Given the description of an element on the screen output the (x, y) to click on. 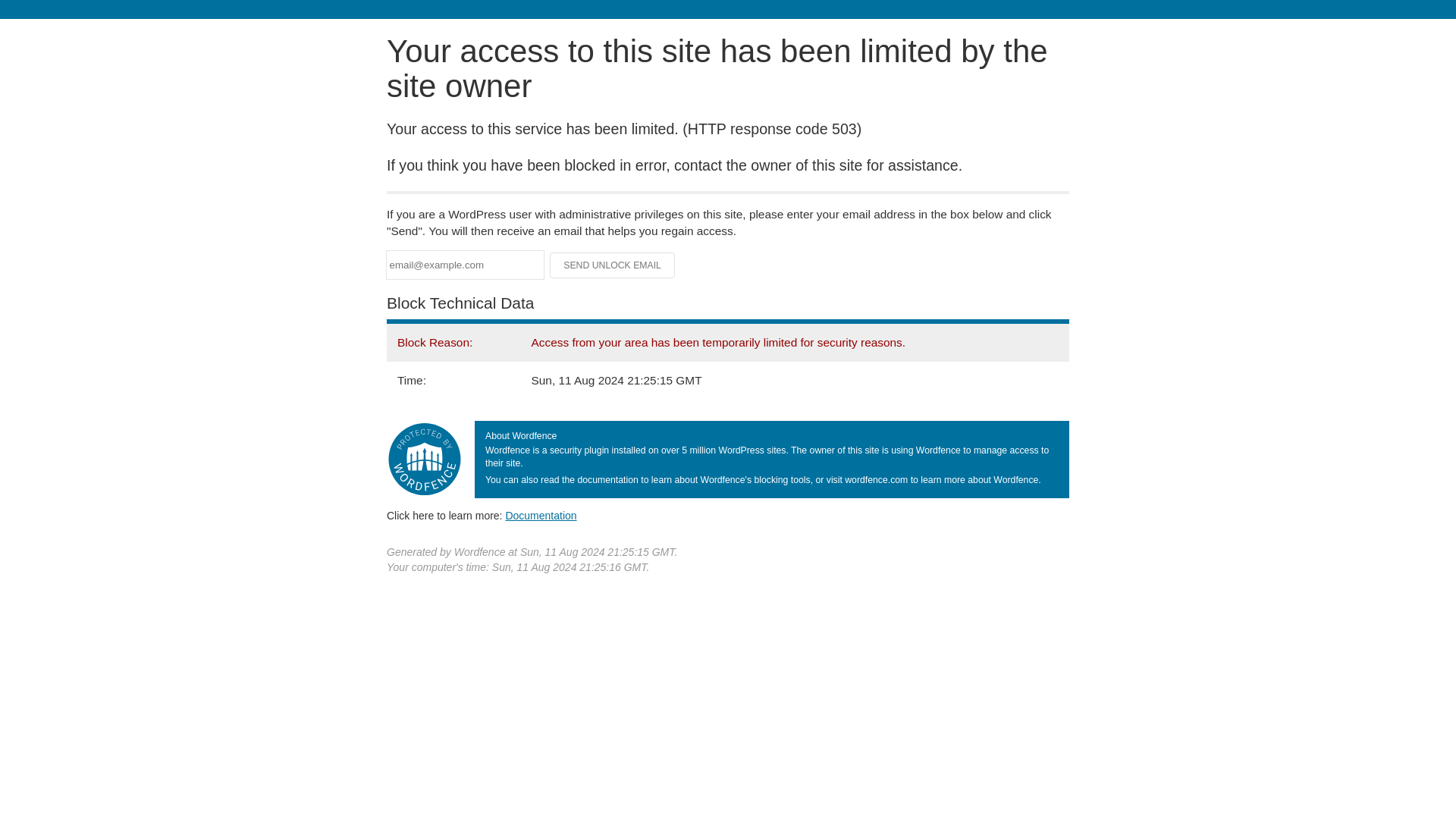
Documentation (540, 515)
Send Unlock Email (612, 265)
Send Unlock Email (612, 265)
